Given the description of an element on the screen output the (x, y) to click on. 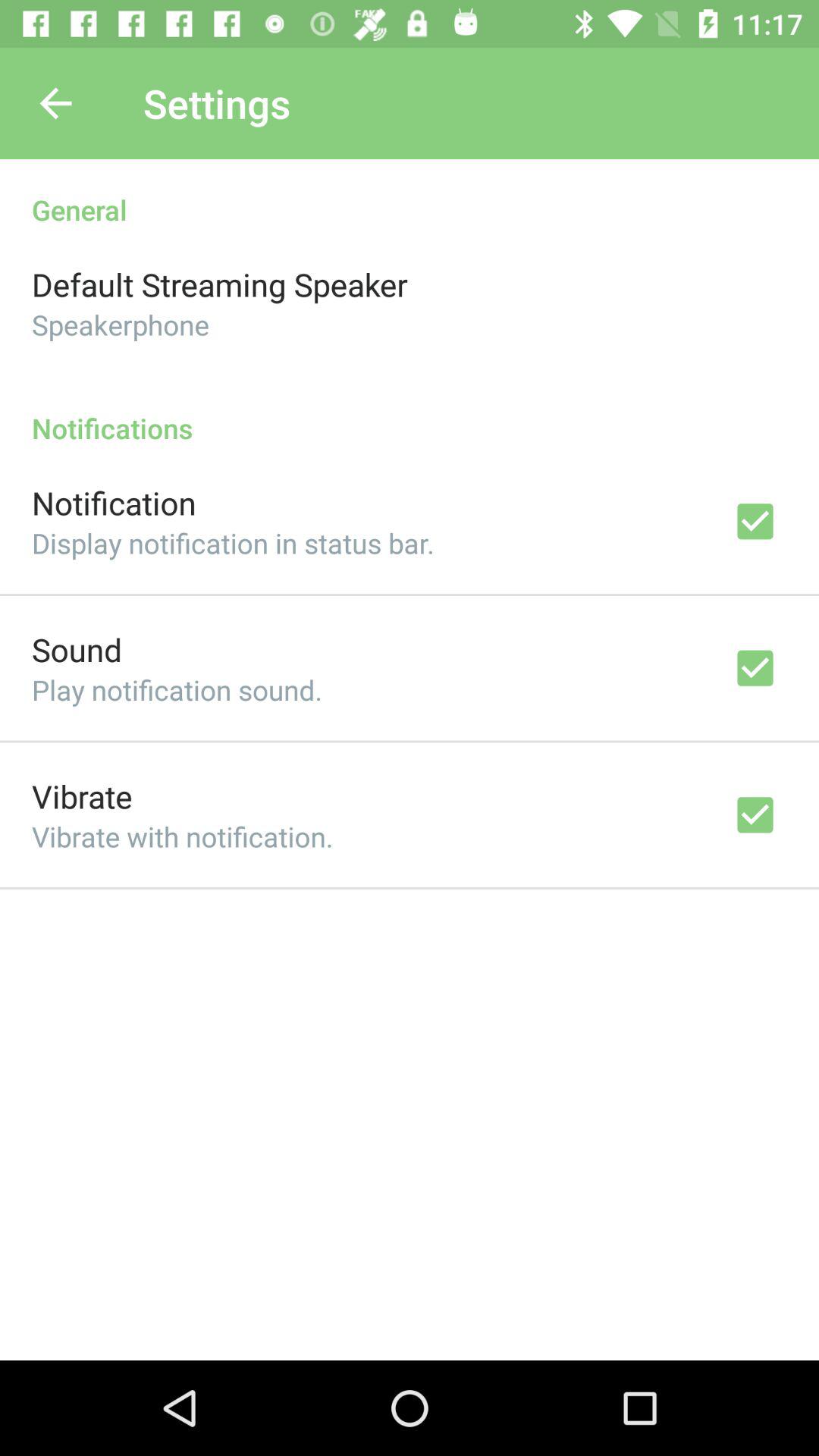
flip to display notification in icon (232, 542)
